Given the description of an element on the screen output the (x, y) to click on. 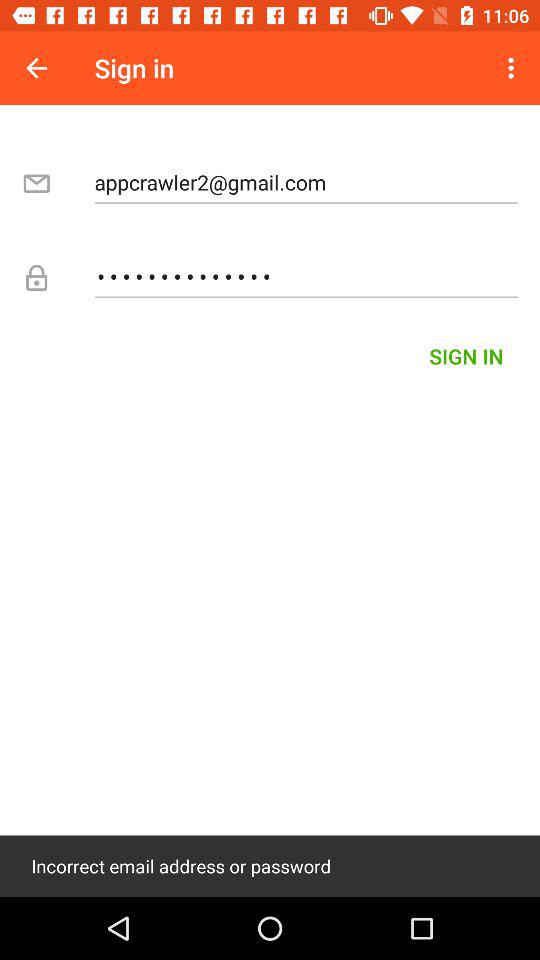
tap item above appcrawler2@gmail.com (513, 67)
